Given the description of an element on the screen output the (x, y) to click on. 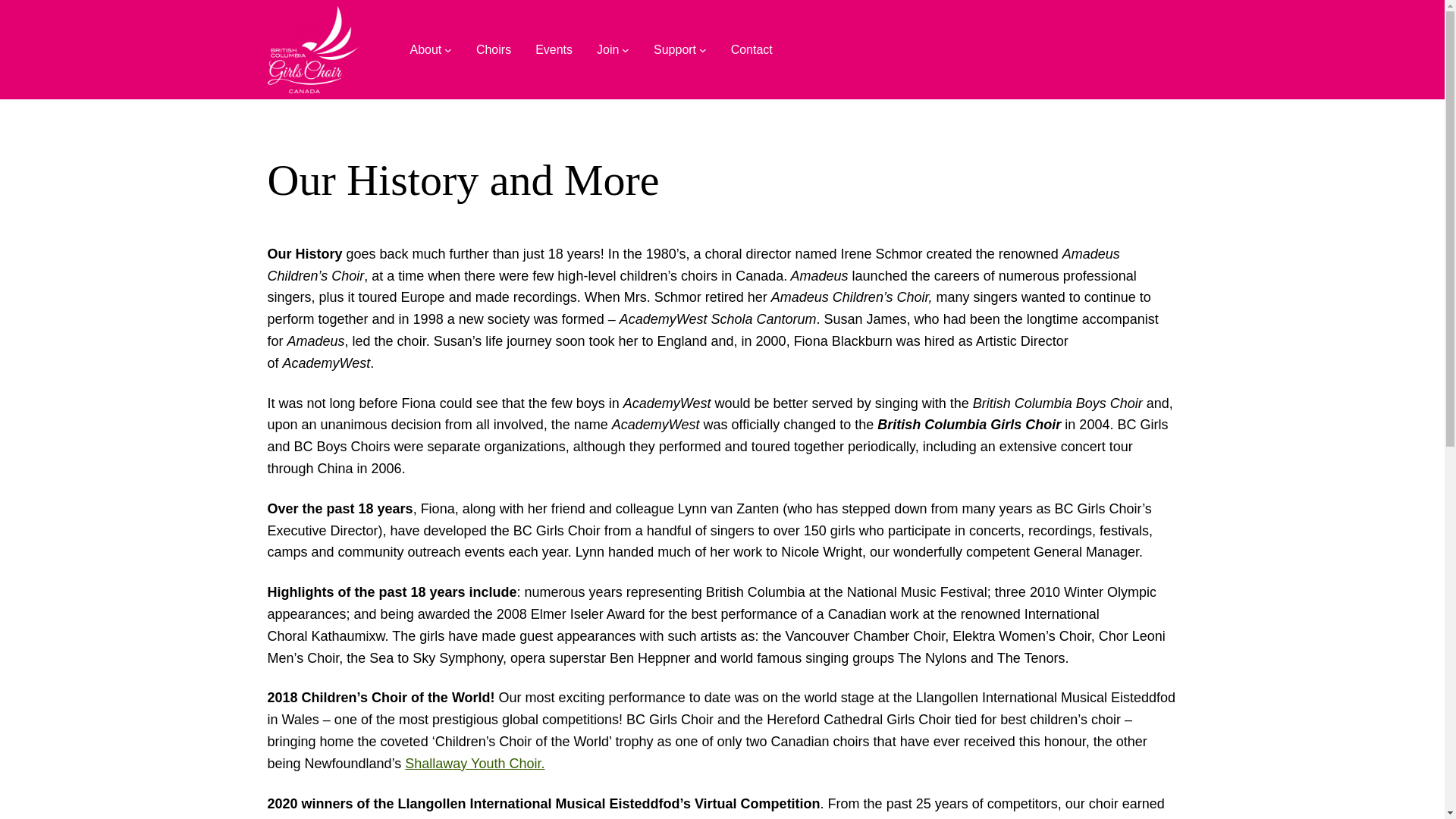
Events (553, 49)
Shallaway Youth Choir. (474, 763)
Choirs (493, 49)
Support (674, 49)
Contact (751, 49)
Join (607, 49)
About (425, 49)
